Given the description of an element on the screen output the (x, y) to click on. 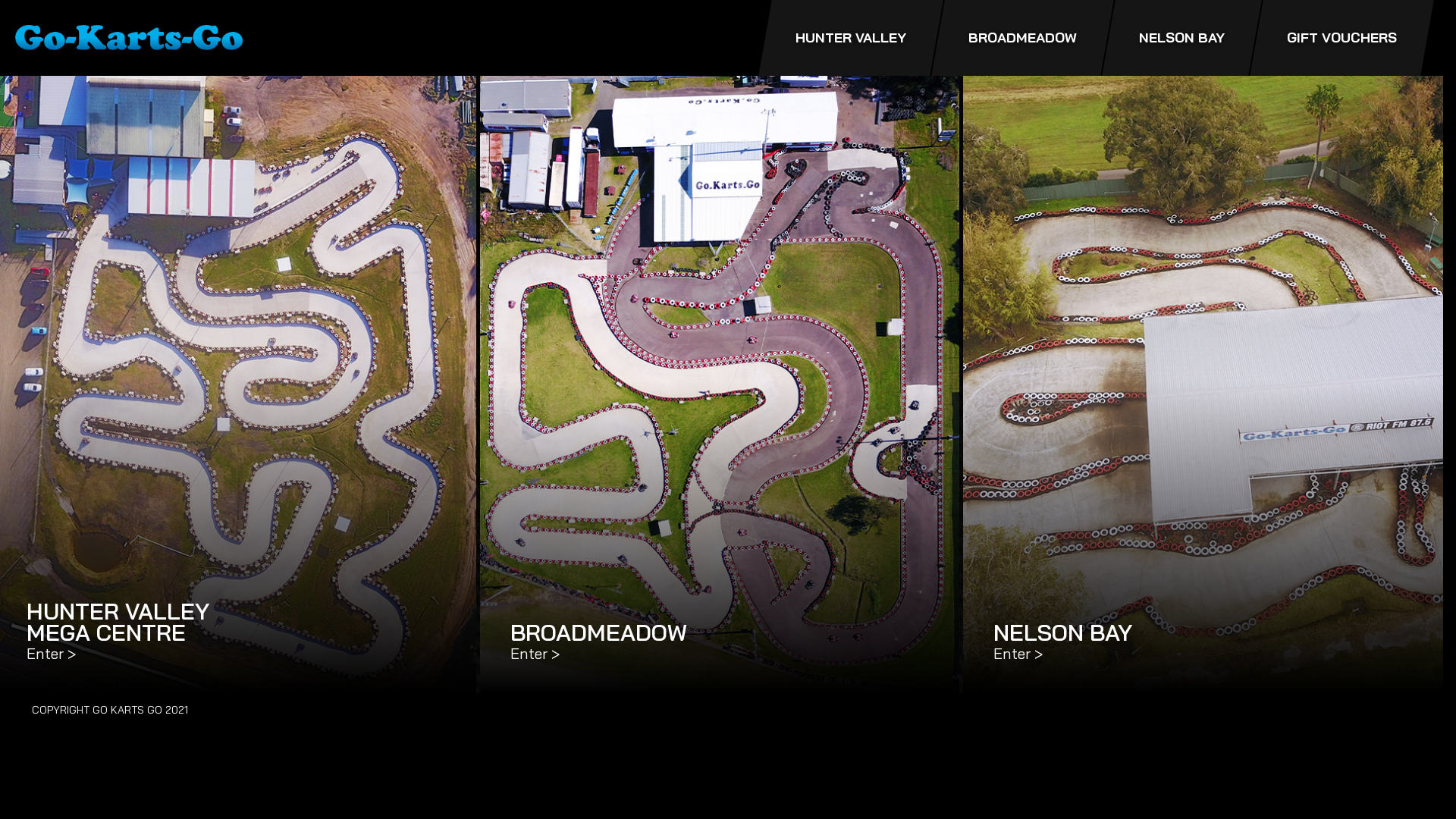
HUNTER VALLEY Element type: text (850, 37)
NELSON BAY Element type: text (1181, 37)
NELSON BAY
Enter > Element type: text (1203, 382)
BROADMEADOW Element type: text (1022, 37)
GIFT VOUCHERS Element type: text (1341, 37)
BROADMEADOW
Enter > Element type: text (720, 382)
